Given the description of an element on the screen output the (x, y) to click on. 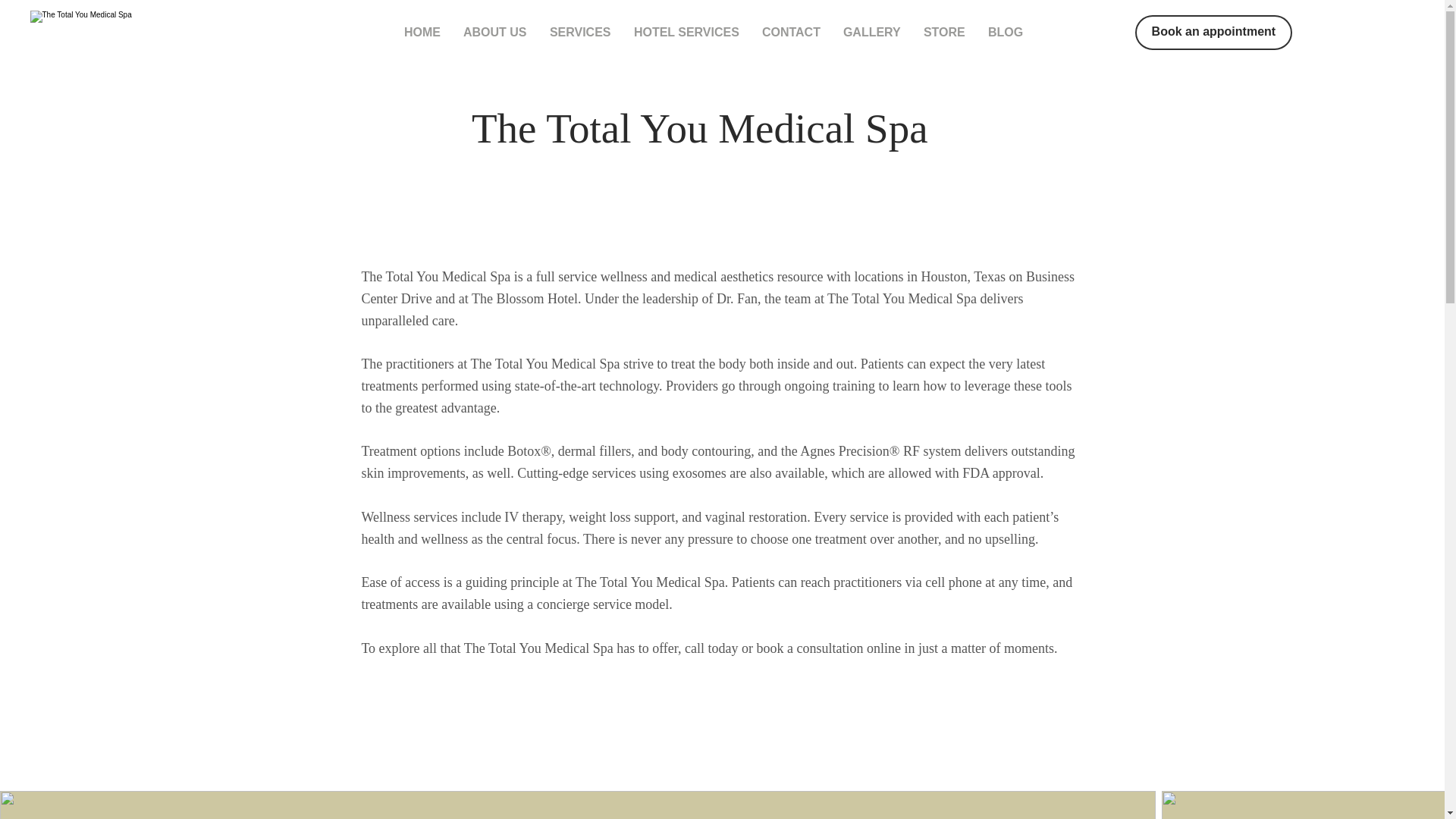
ABOUT US (494, 32)
SERVICES (580, 32)
GALLERY (871, 32)
BLOG (1004, 32)
Book an appointment (1213, 32)
STORE (944, 32)
HOTEL SERVICES (687, 32)
CONTACT (791, 32)
HOME (422, 32)
